Given the description of an element on the screen output the (x, y) to click on. 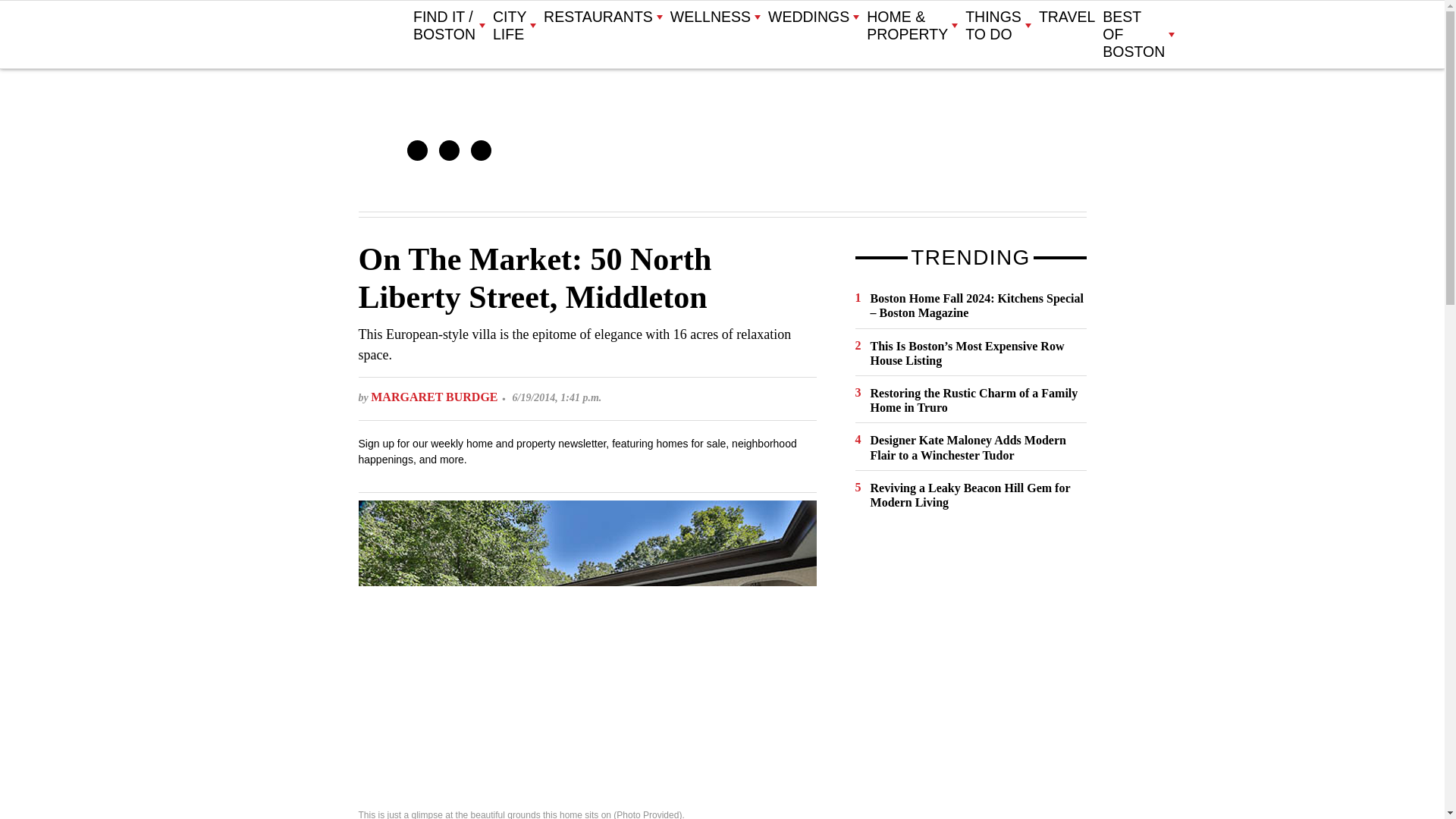
WEDDINGS (813, 16)
RESTAURANTS (602, 16)
THINGS TO DO (997, 25)
WELLNESS (714, 16)
